Given the description of an element on the screen output the (x, y) to click on. 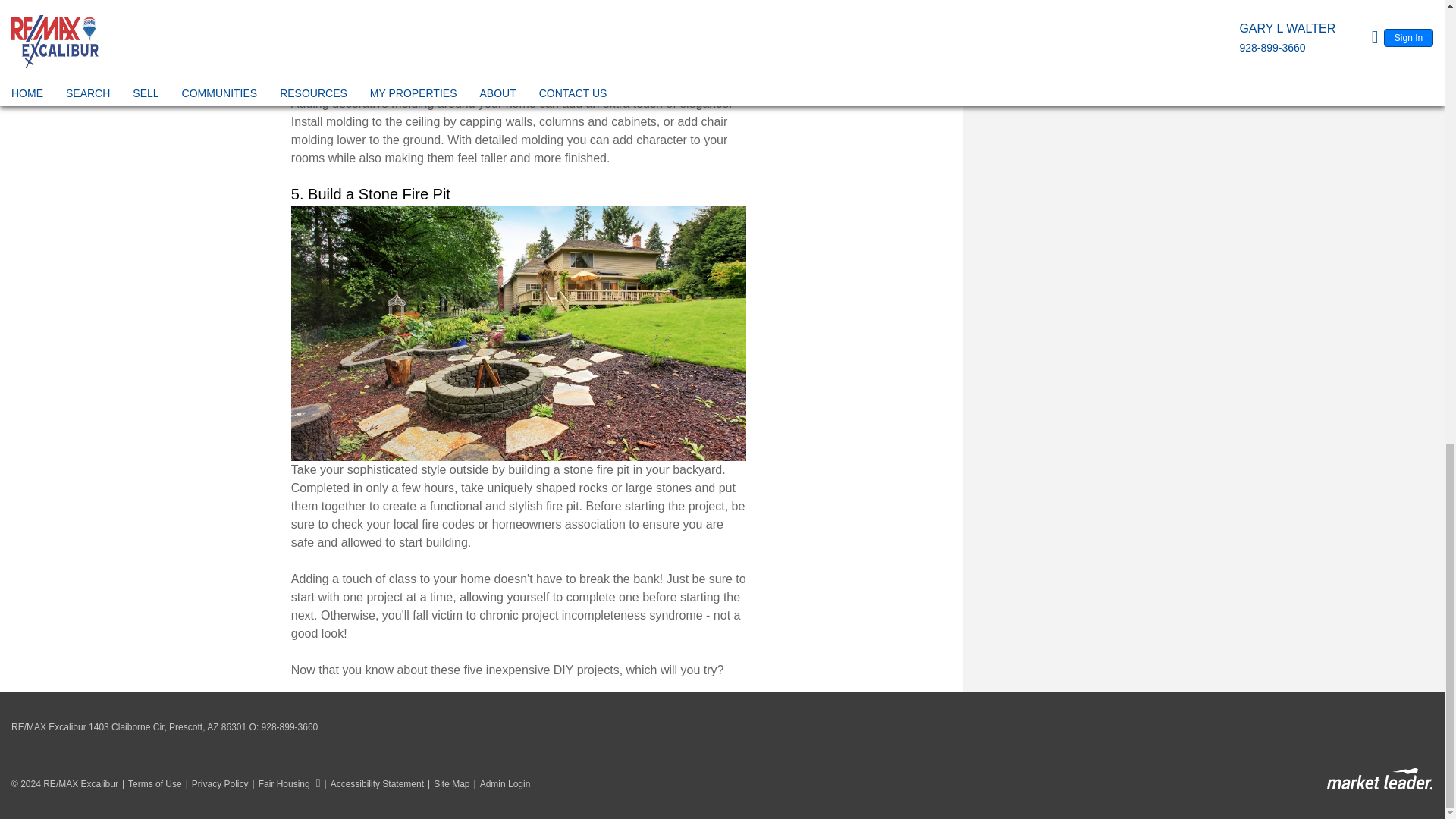
Site Map (445, 784)
Powered By Market Leader (1379, 779)
928-899-3660 (290, 726)
Accessibility Statement (372, 784)
Fair Housing (284, 784)
Admin Login (500, 784)
Terms of Use (149, 784)
Privacy Policy (215, 784)
